Given the description of an element on the screen output the (x, y) to click on. 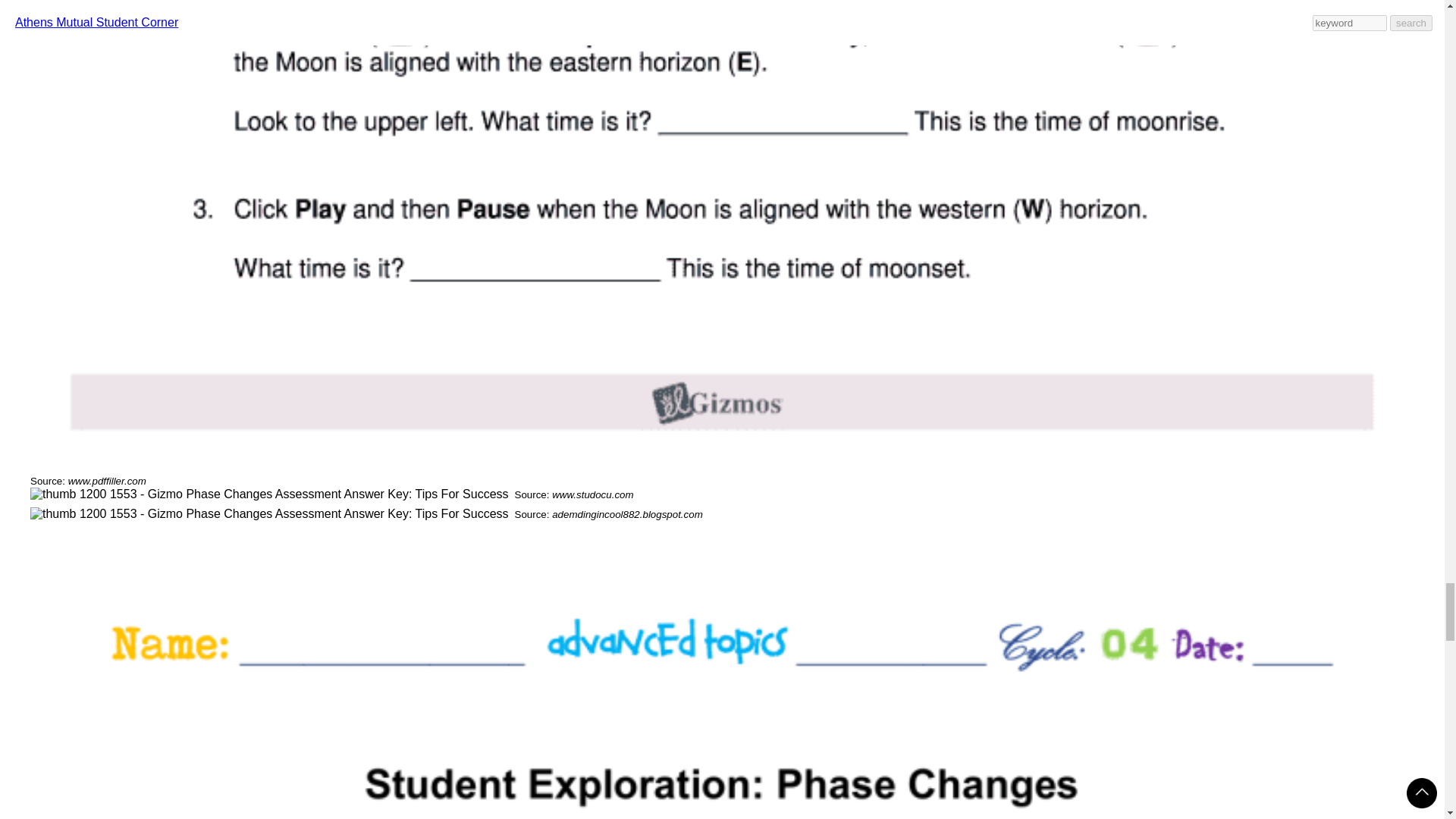
Gizmo Phase Changes Assessment Answer Key: Tips For Success (269, 494)
Gizmo Phase Changes Assessment Answer Key: Tips For Success (269, 513)
